Given the description of an element on the screen output the (x, y) to click on. 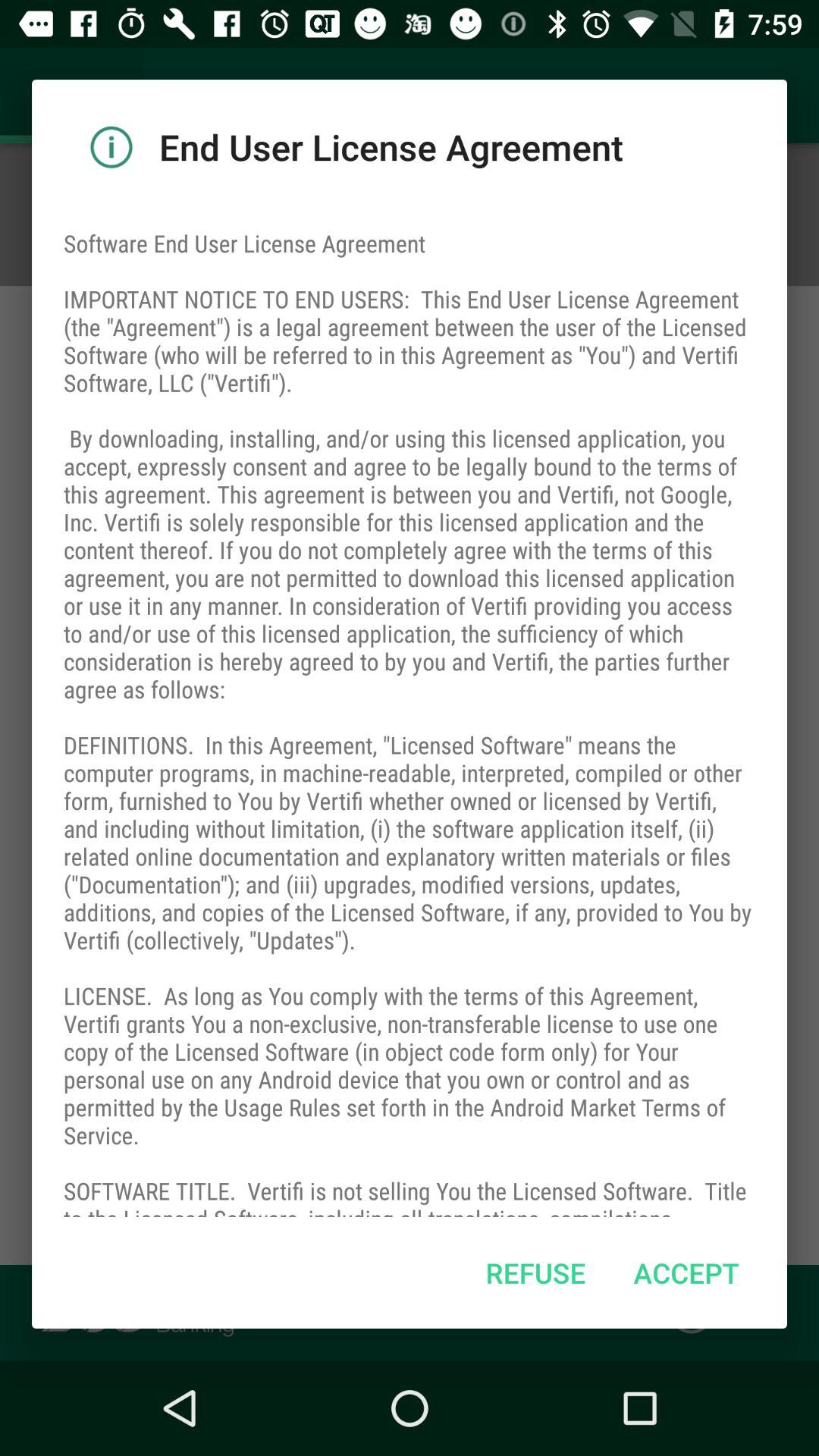
click the icon next to the accept item (535, 1272)
